Given the description of an element on the screen output the (x, y) to click on. 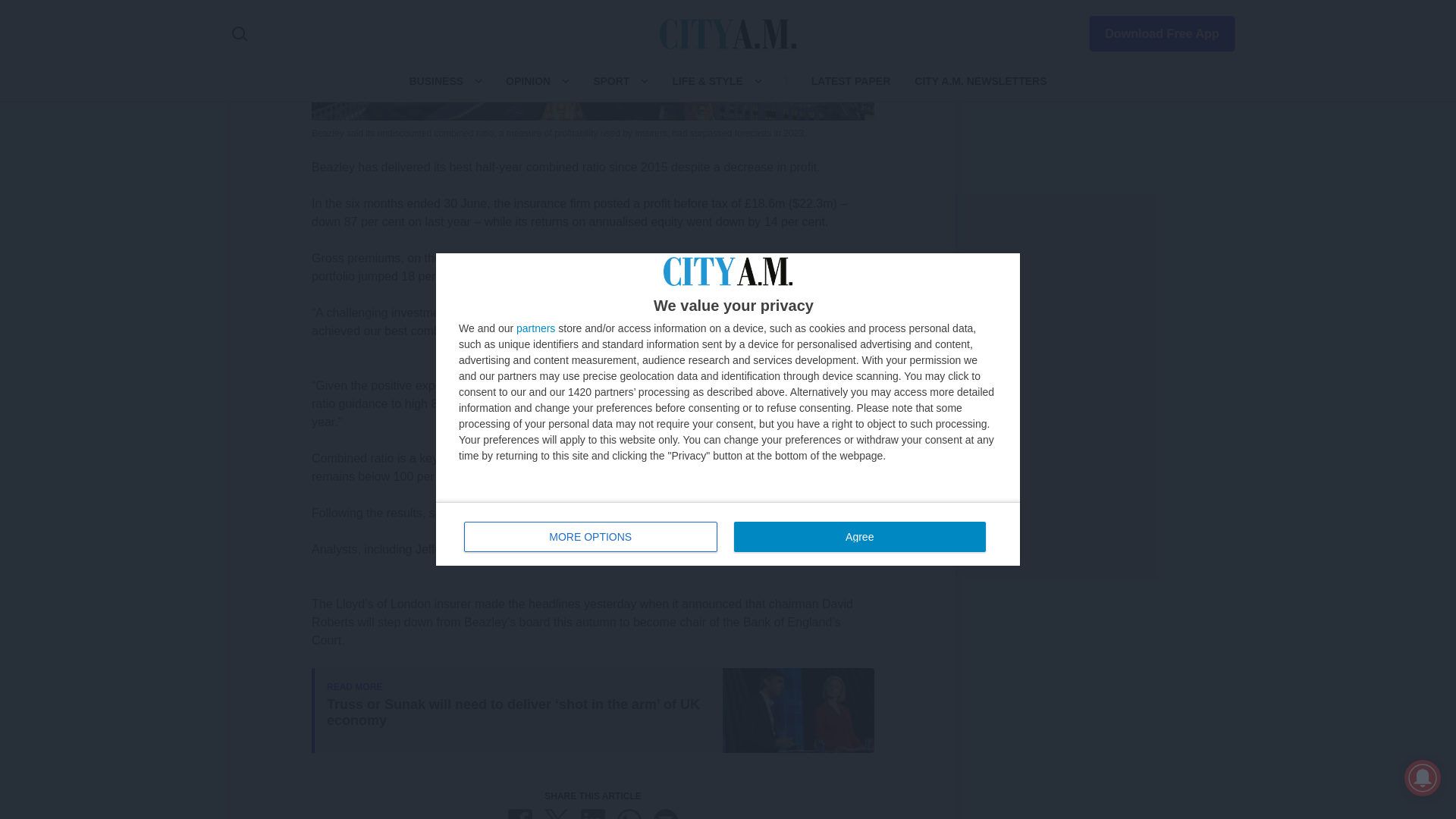
Email (665, 814)
LinkedIn (592, 814)
X (556, 814)
WhatsApp (629, 814)
Facebook (520, 814)
